Given the description of an element on the screen output the (x, y) to click on. 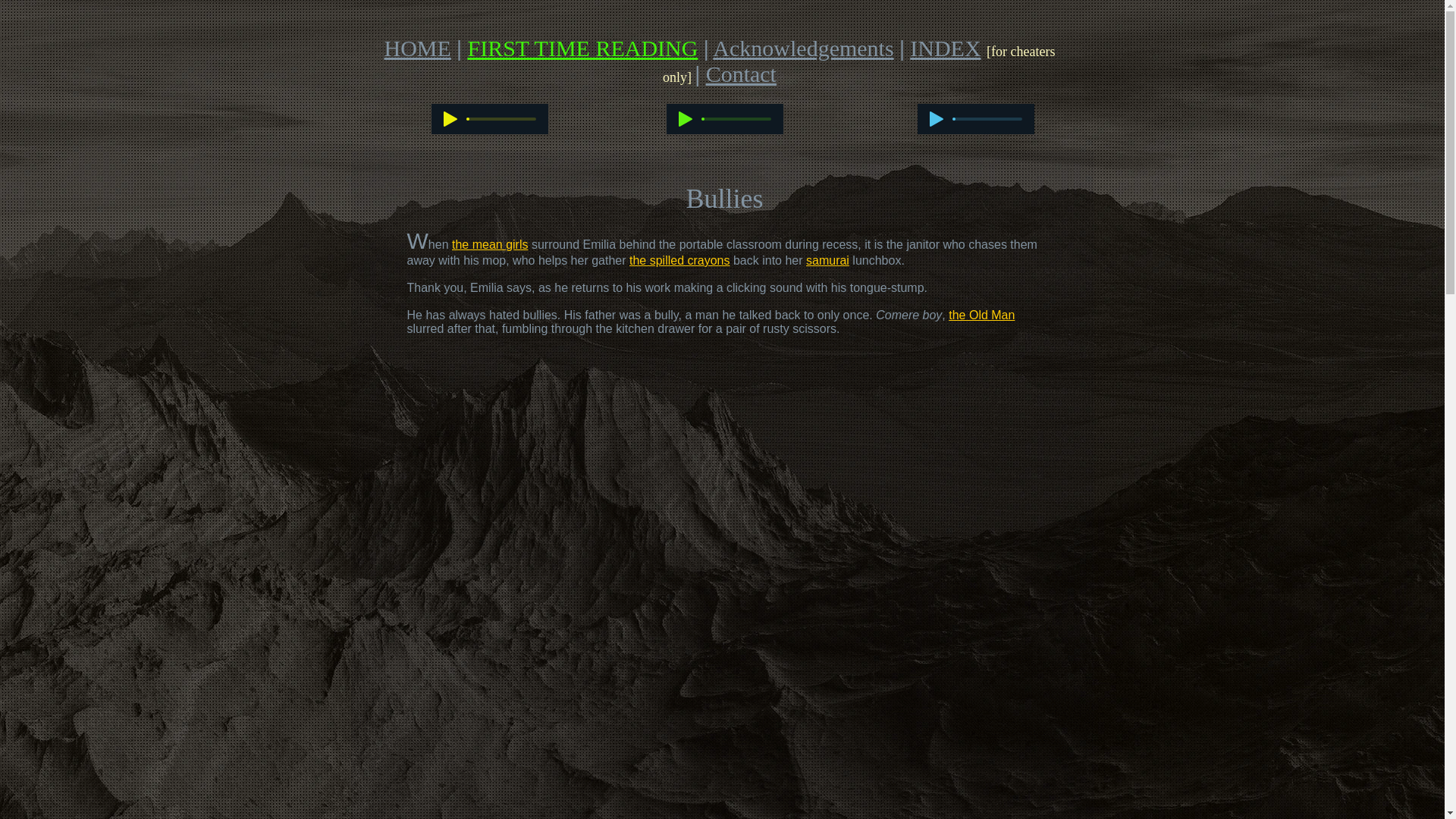
the Old Man (981, 314)
samurai (827, 259)
INDEX (944, 48)
Acknowledgements (803, 48)
0 (501, 118)
FIRST TIME READING (582, 48)
0 (987, 118)
Contact (741, 73)
0 (735, 118)
the spilled crayons (679, 259)
